Given the description of an element on the screen output the (x, y) to click on. 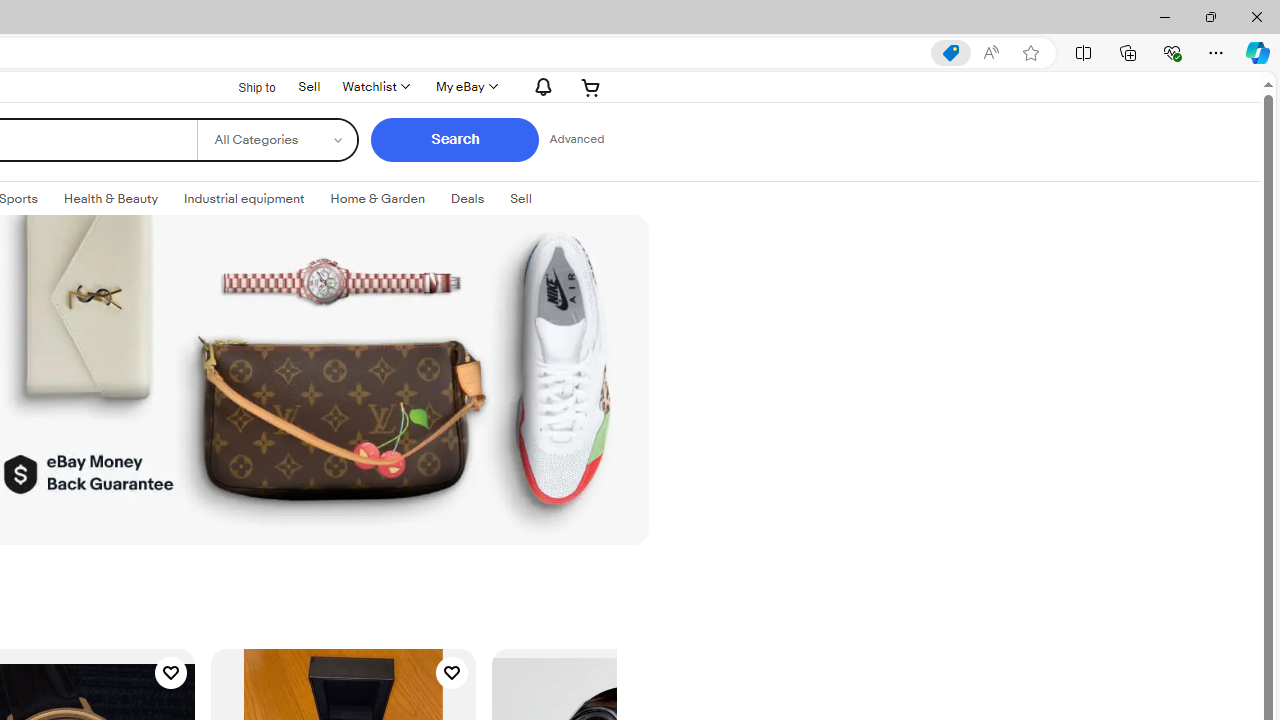
My eBay (464, 86)
Select a category for search (277, 139)
Sell (520, 198)
Advanced Search (576, 139)
Your shopping cart (591, 86)
AutomationID: gh-p-2 (308, 84)
Industrial equipment (244, 198)
